Given the description of an element on the screen output the (x, y) to click on. 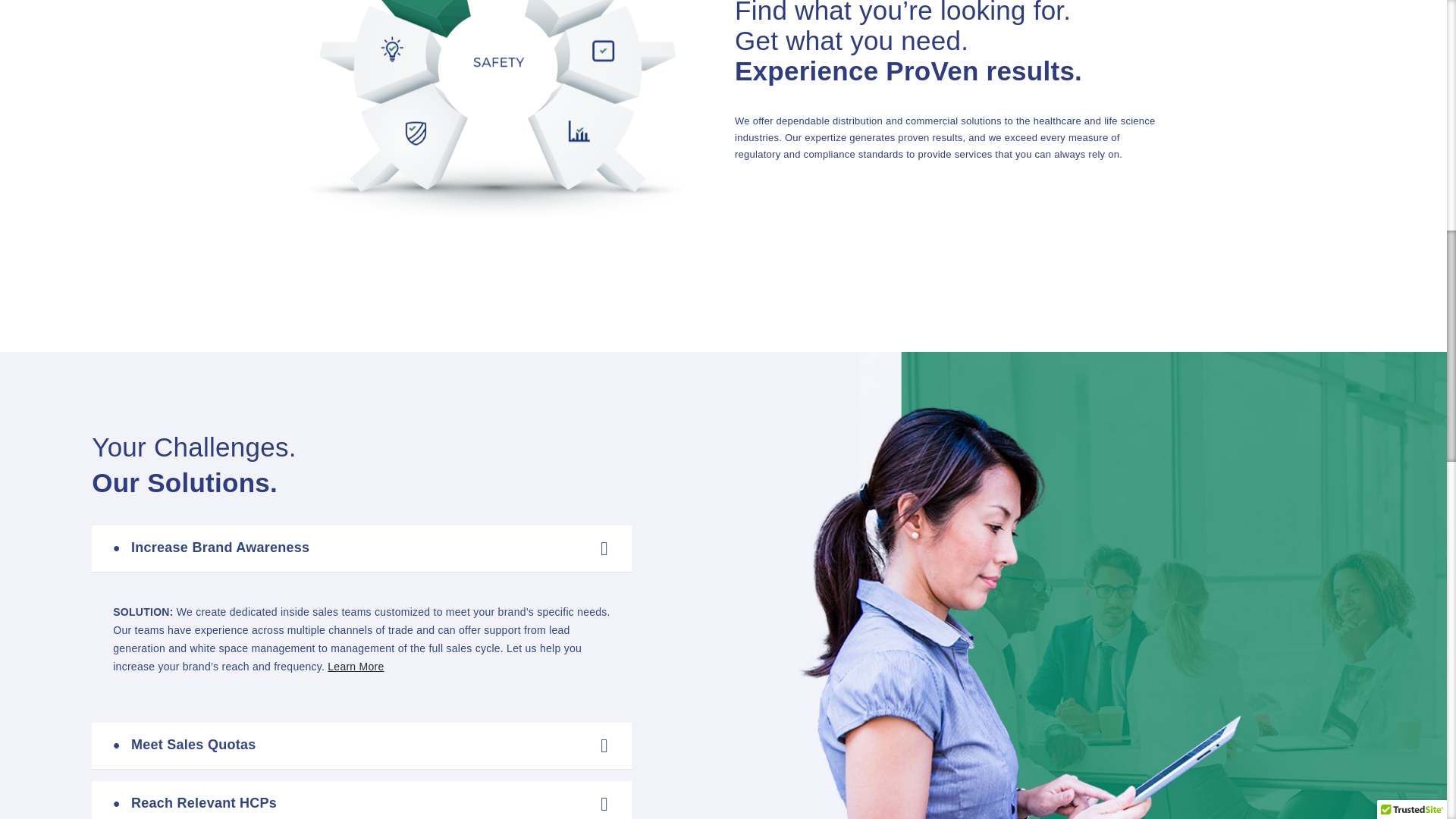
Learn More (355, 666)
